Given the description of an element on the screen output the (x, y) to click on. 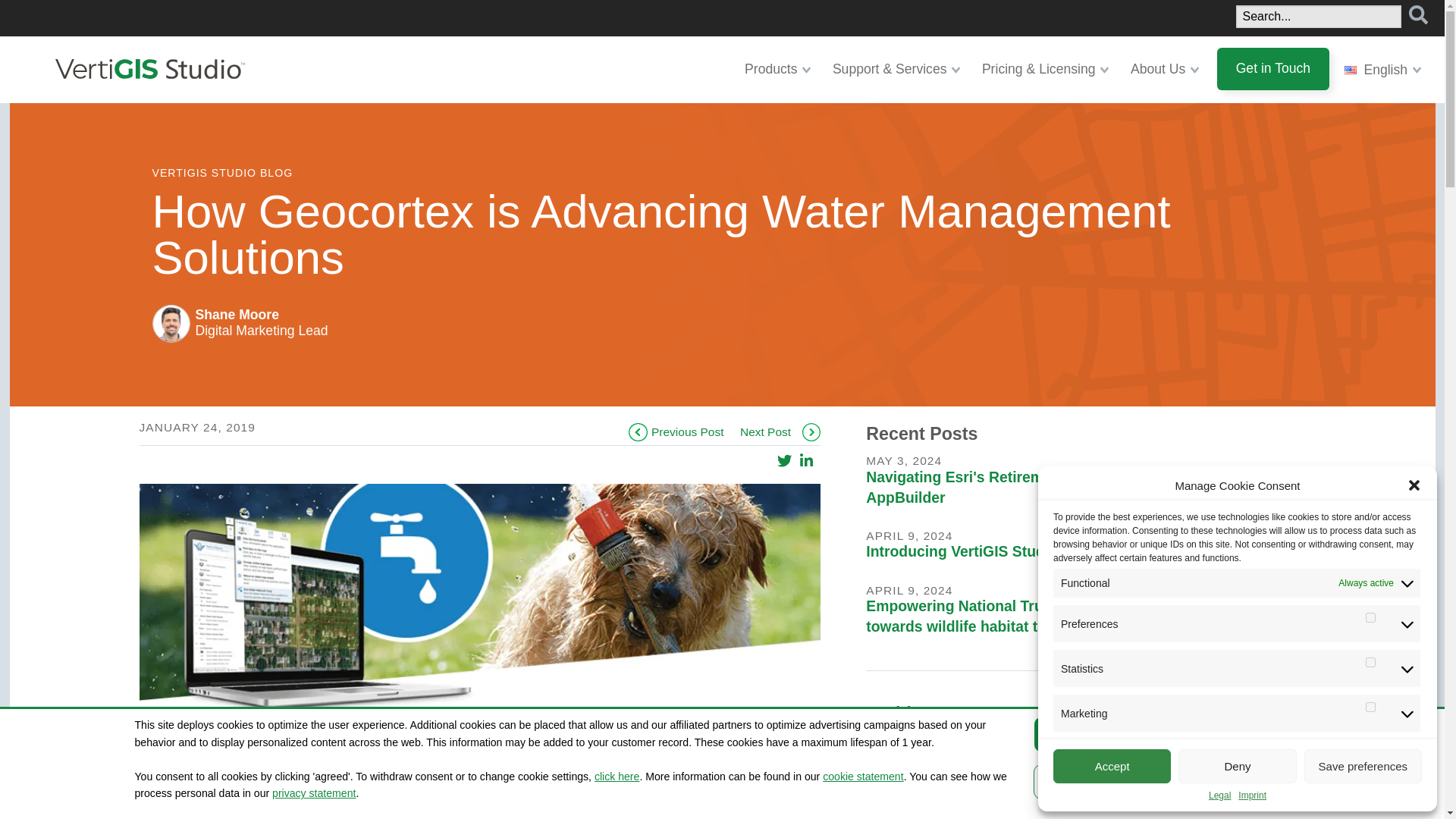
Open: 2024 (889, 751)
Save preferences (1363, 765)
Accept (1111, 765)
Legal (1219, 795)
Imprint (1252, 795)
Open: 2023 (889, 789)
Share on Twitter (784, 460)
1 (1370, 706)
Share on Twitter (784, 460)
1 (1370, 662)
Shane Moore (170, 322)
1 (1370, 617)
VertiGIS Studio (149, 68)
Deny (1236, 765)
